Given the description of an element on the screen output the (x, y) to click on. 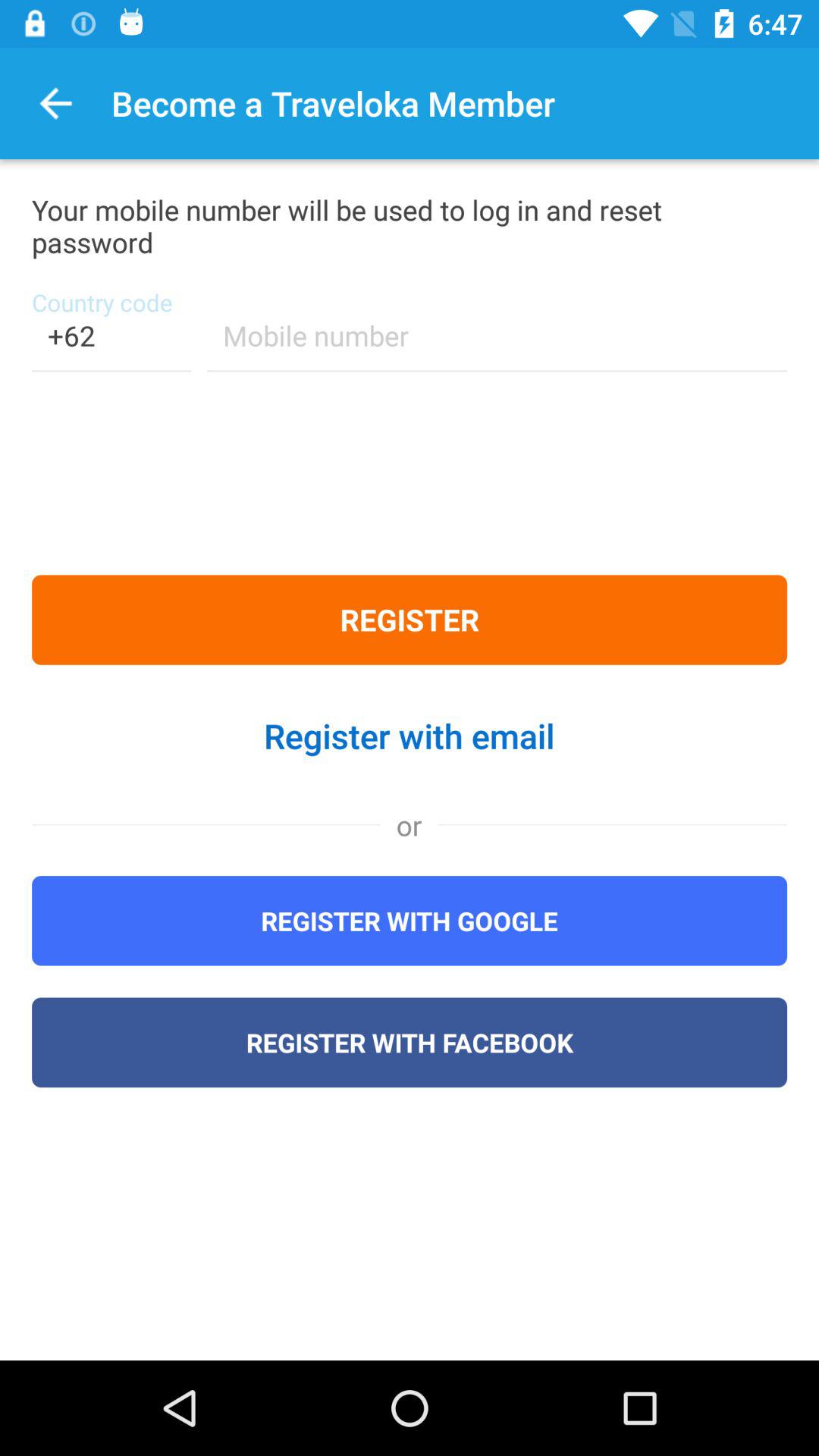
because back devicer (497, 345)
